Given the description of an element on the screen output the (x, y) to click on. 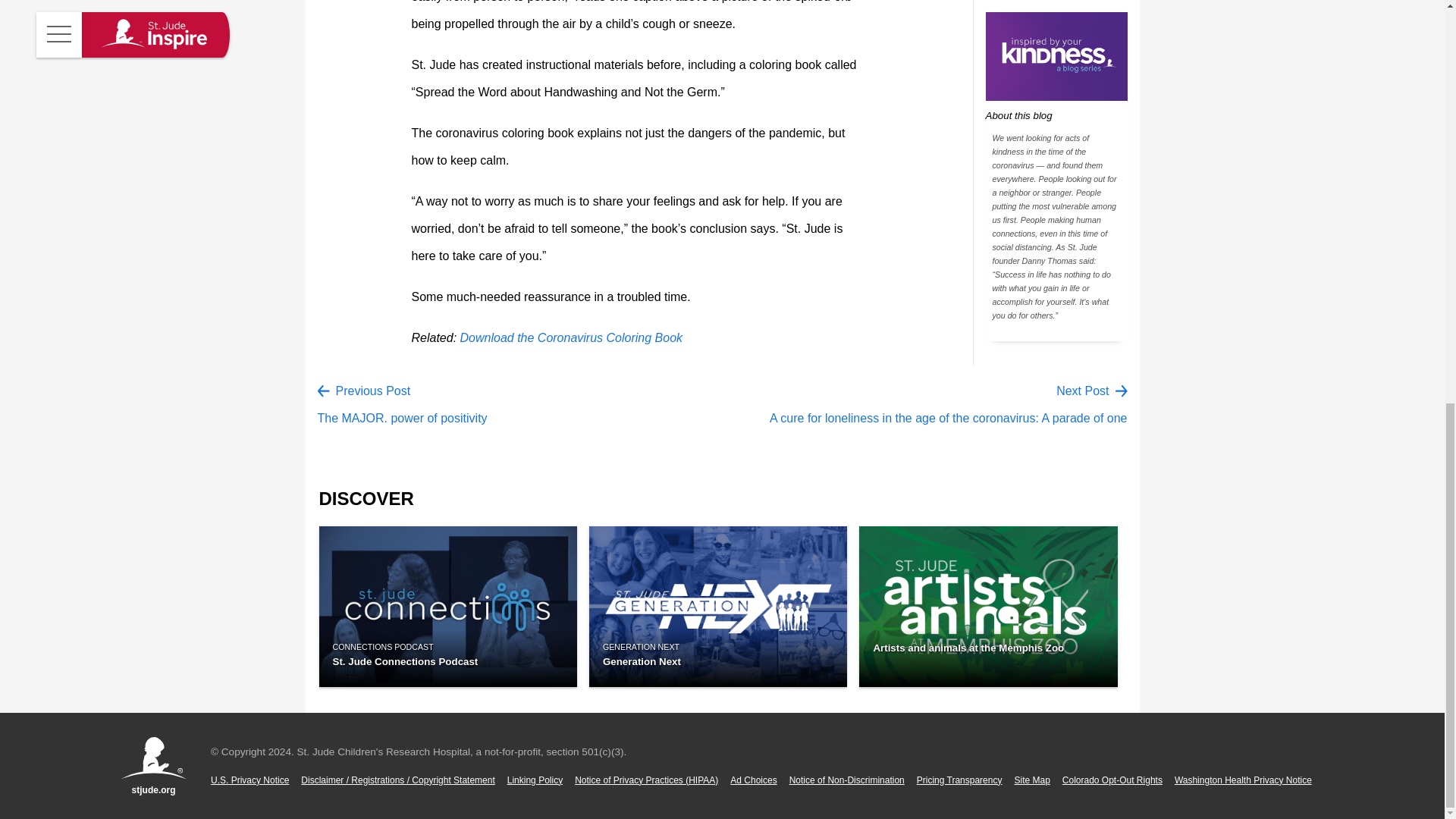
Linking Policy (534, 779)
The MAJOR. power of positivity (401, 418)
Colorado Opt-Out Rights (1111, 779)
Site Map (1031, 779)
stjude.org (153, 765)
Ad Choices (753, 779)
Pricing Transparency (960, 779)
U.S. Privacy Notice (249, 779)
St. Jude Home Page (153, 765)
